Given the description of an element on the screen output the (x, y) to click on. 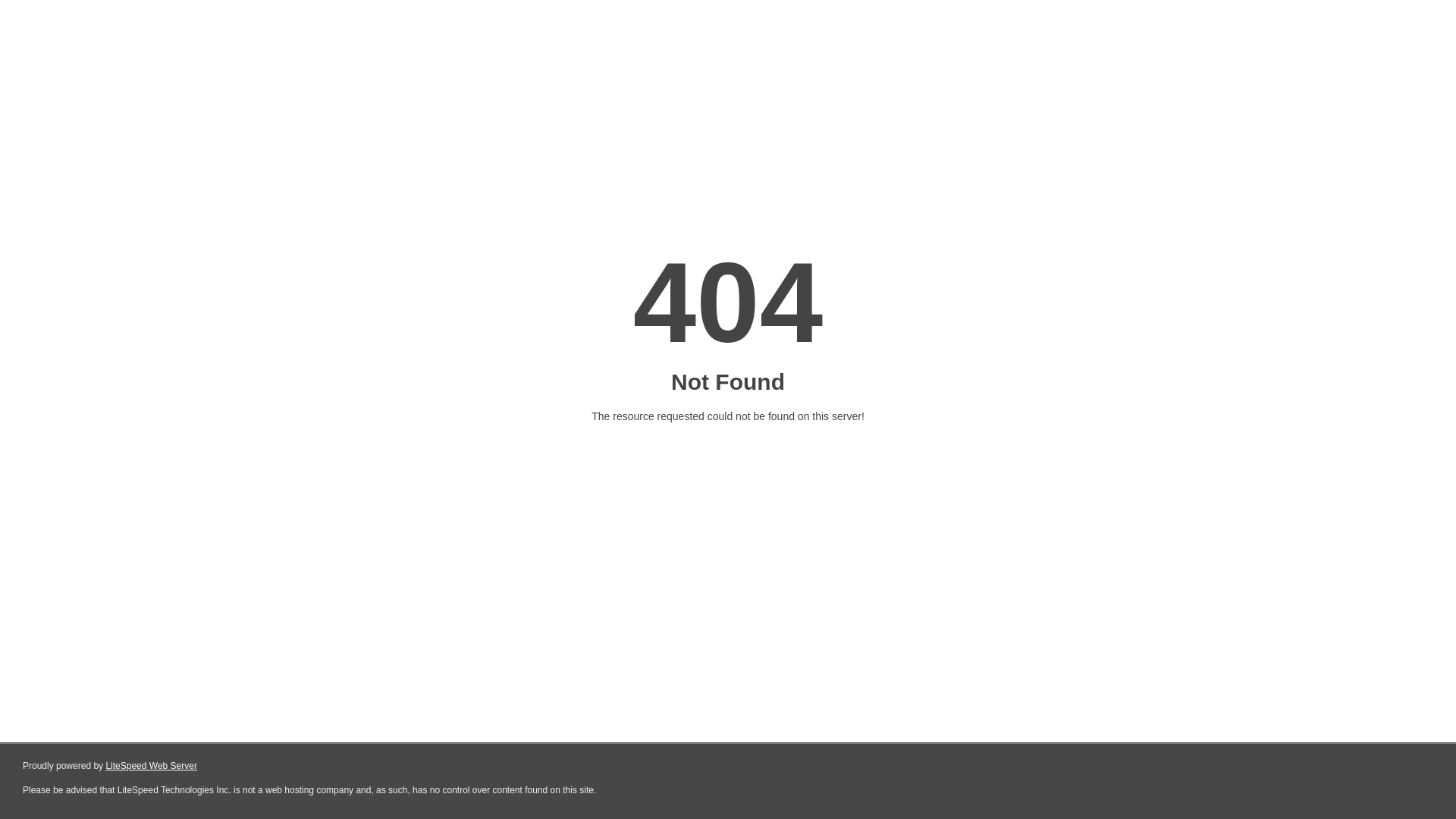
LiteSpeed Web Server Element type: text (151, 765)
